Given the description of an element on the screen output the (x, y) to click on. 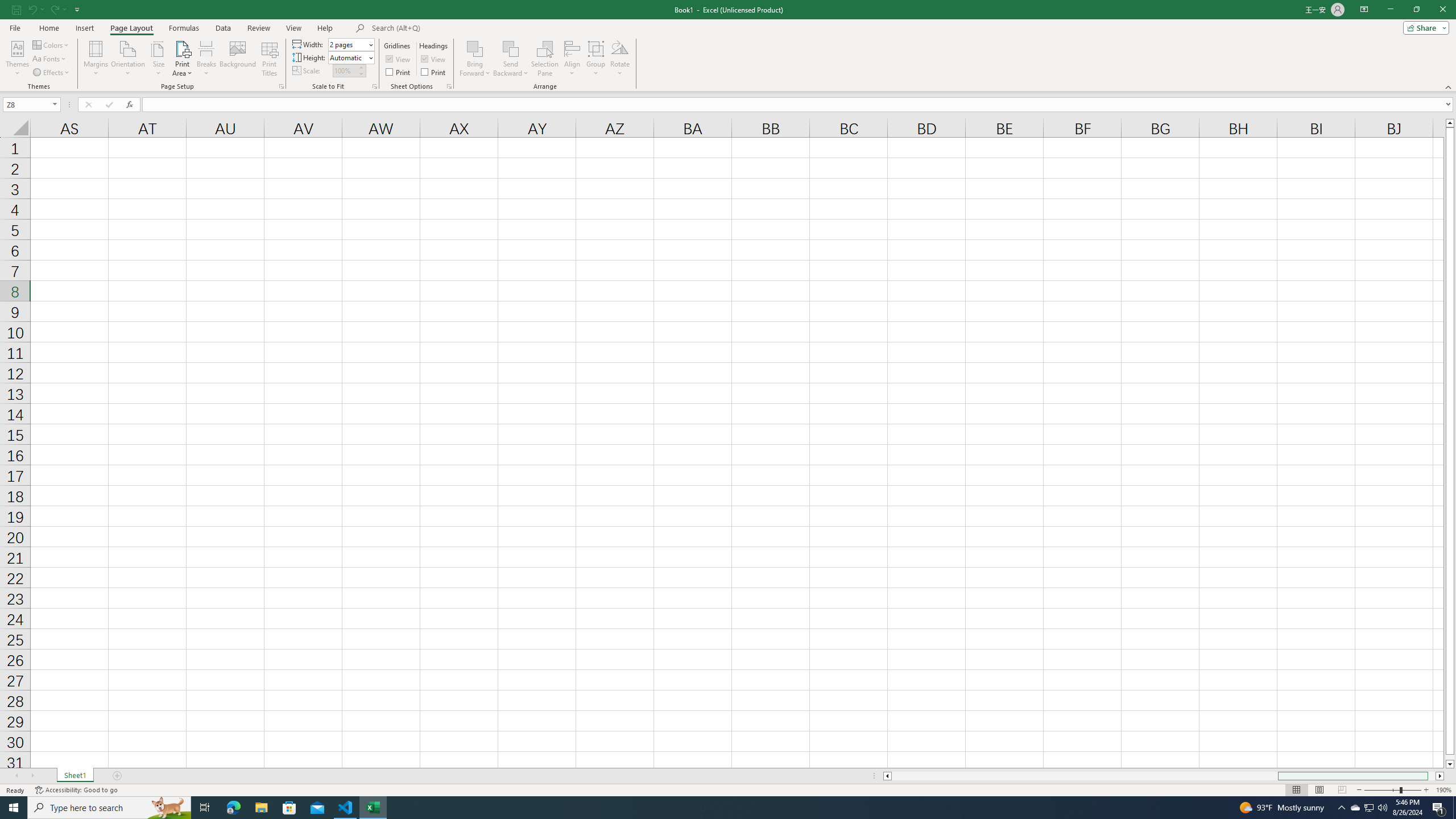
Height (347, 57)
Effects (51, 72)
Save (16, 9)
Background... (237, 58)
Collapse the Ribbon (1448, 86)
Fonts (49, 58)
Print Area (182, 58)
Scroll Left (16, 775)
Size (158, 58)
Open (54, 104)
Normal (1296, 790)
Redo (57, 9)
Zoom (1392, 790)
Formula Bar (798, 104)
